Given the description of an element on the screen output the (x, y) to click on. 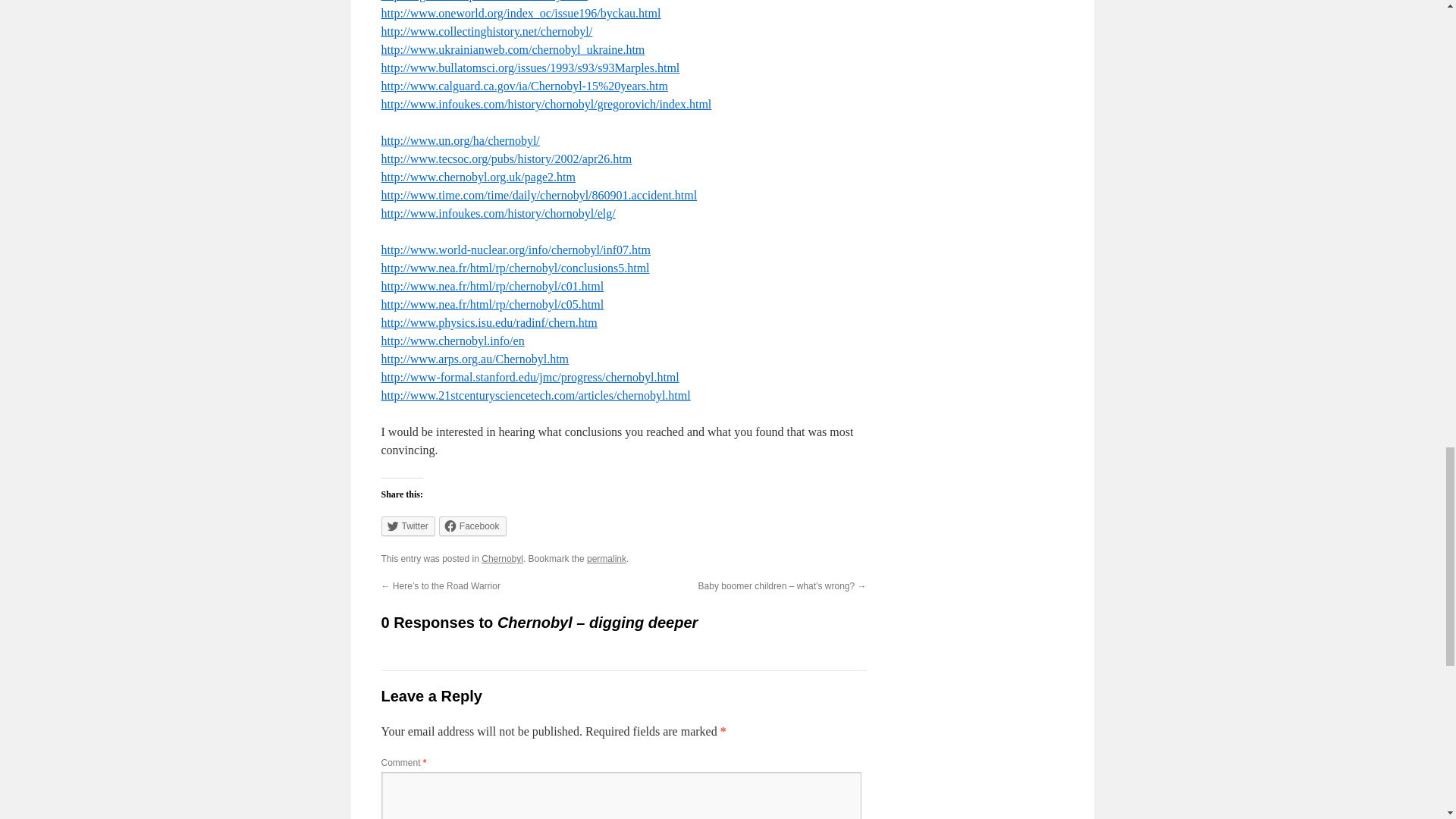
Click to share on Twitter (406, 526)
Click to share on Facebook (472, 526)
